Given the description of an element on the screen output the (x, y) to click on. 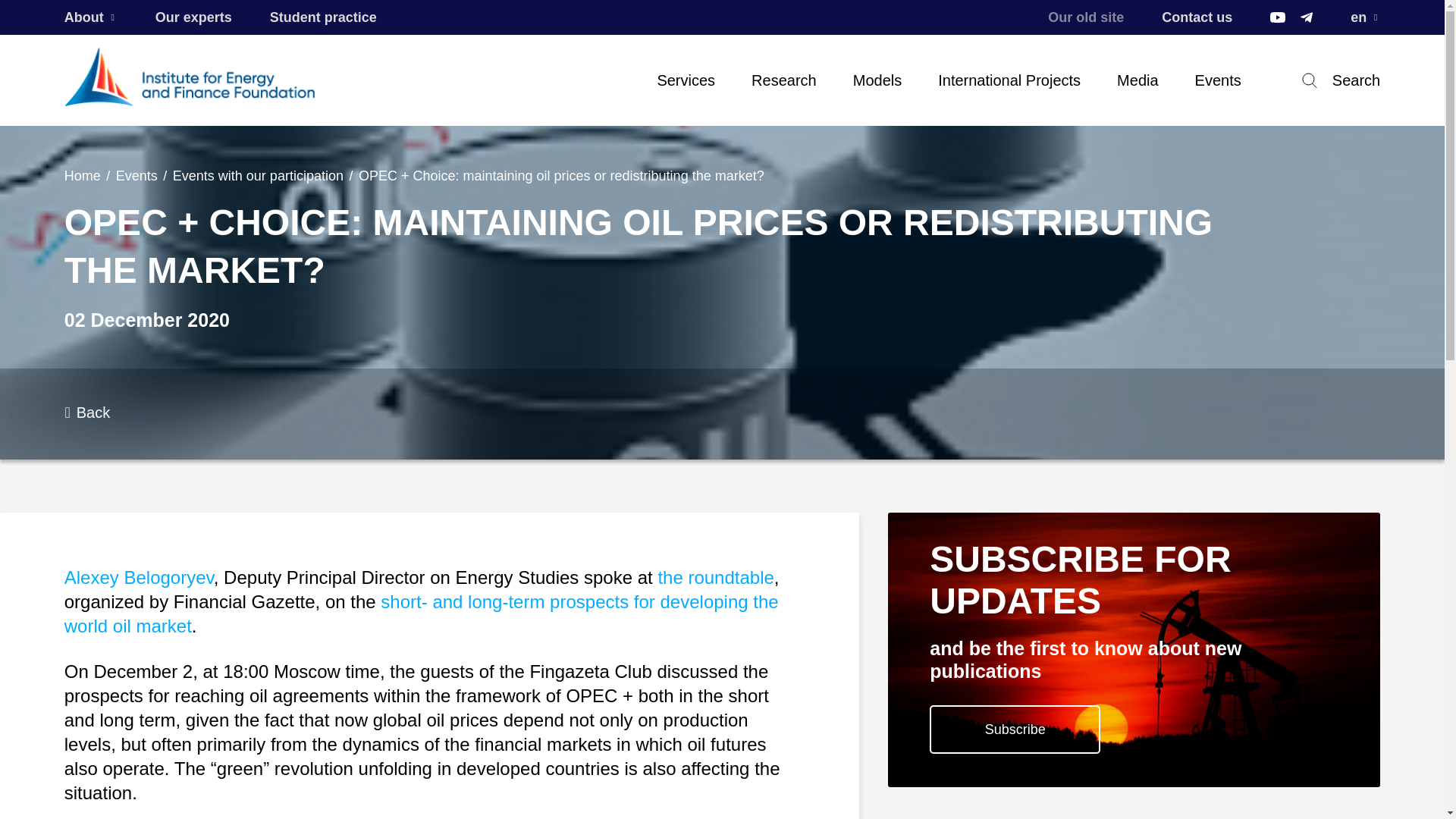
Our experts (193, 17)
Contact us (1196, 17)
Services (685, 80)
Our old site (1086, 17)
Student practice (323, 17)
Research (784, 80)
